Given the description of an element on the screen output the (x, y) to click on. 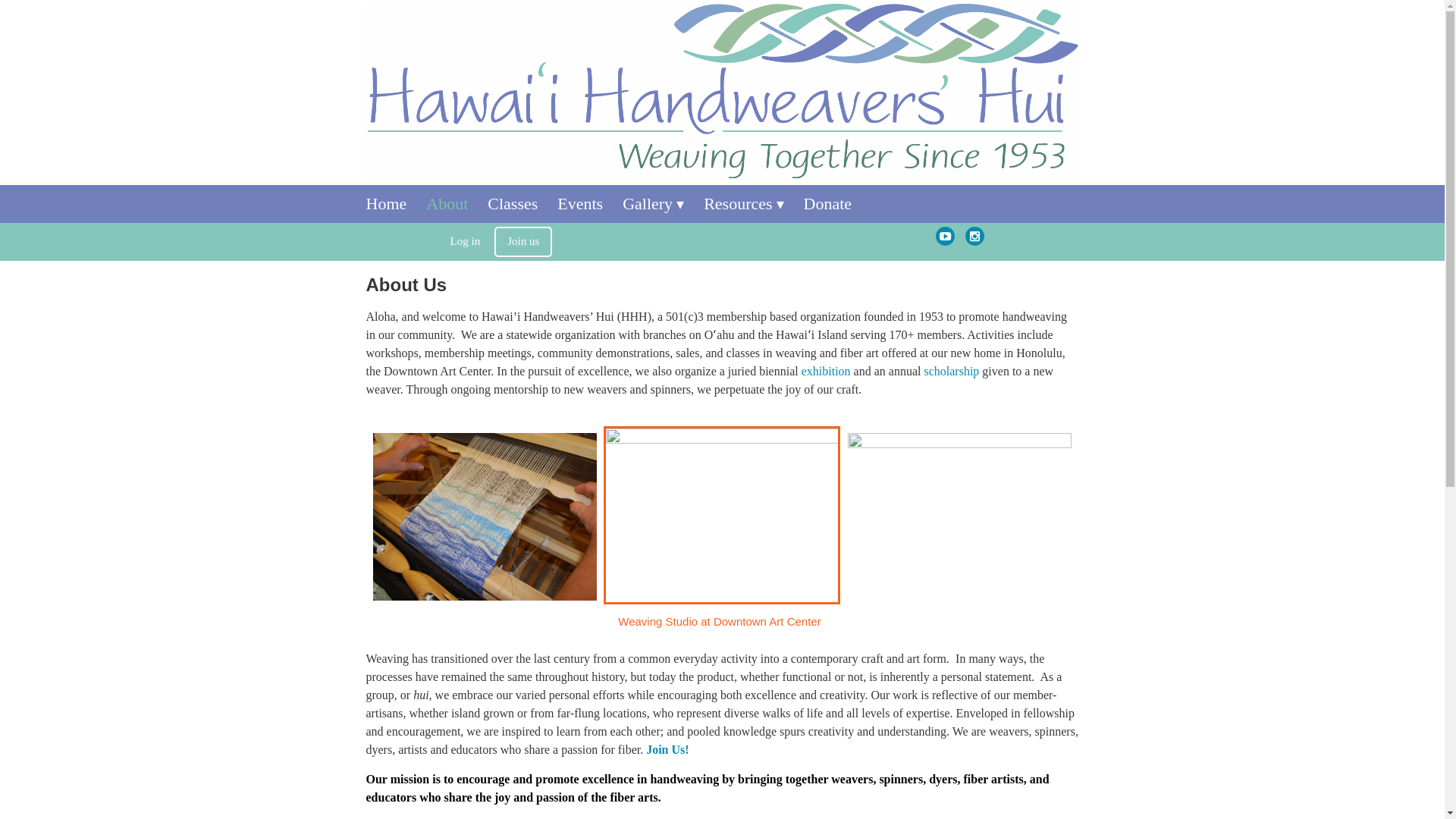
Classes (522, 203)
Events (590, 203)
Resources (753, 203)
About (456, 203)
Join us (523, 241)
Home (395, 203)
About (456, 203)
exhibition (826, 370)
Gallery (663, 203)
Classes (522, 203)
scholarship (950, 370)
Events (590, 203)
Join Us! (667, 748)
Gallery (663, 203)
Donate (837, 203)
